Given the description of an element on the screen output the (x, y) to click on. 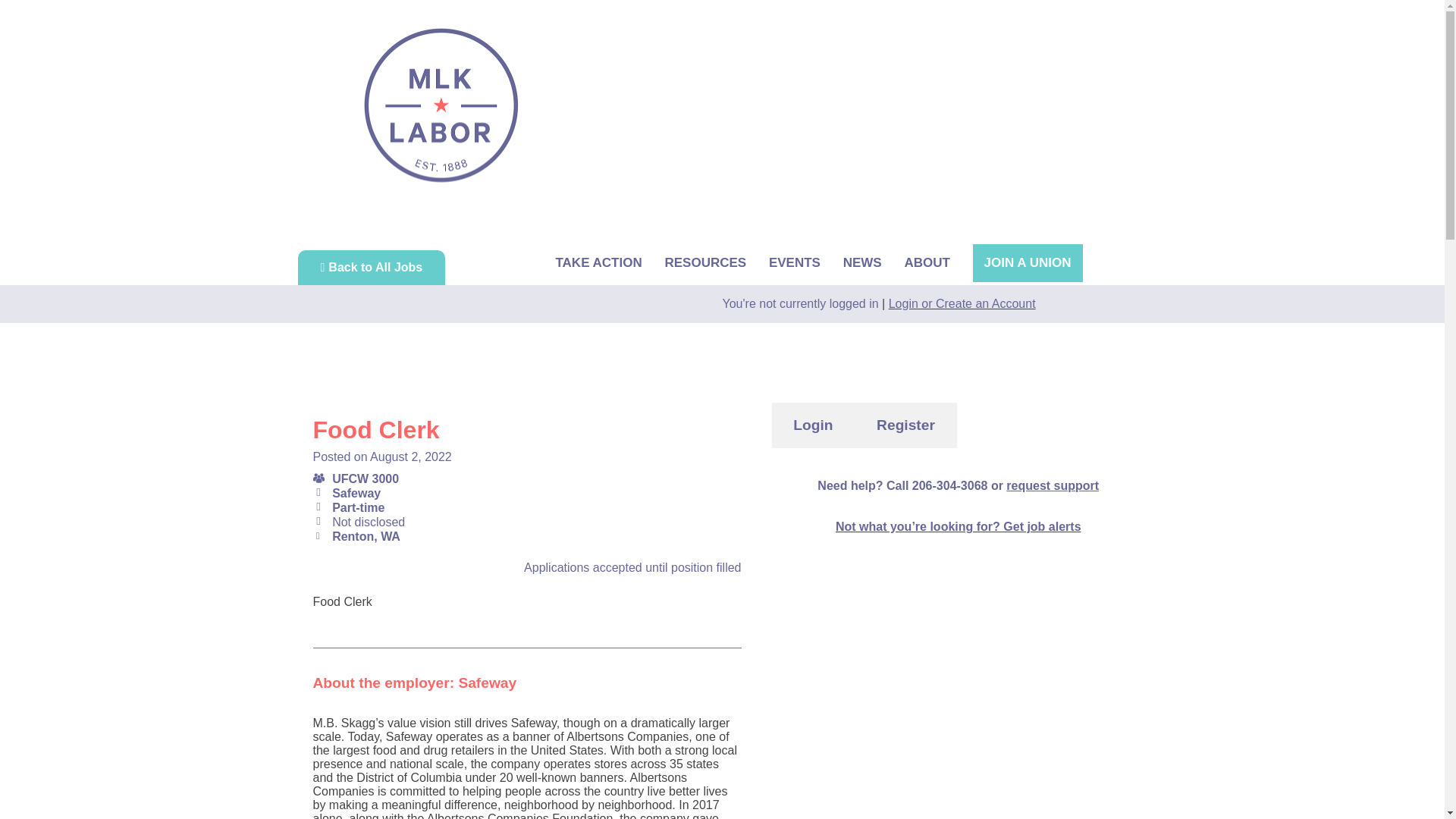
JOIN A UNION (1027, 262)
TAKE ACTION (598, 262)
EVENTS (794, 262)
Home (440, 104)
NEWS (862, 262)
ABOUT (926, 262)
RESOURCES (704, 262)
